Given the description of an element on the screen output the (x, y) to click on. 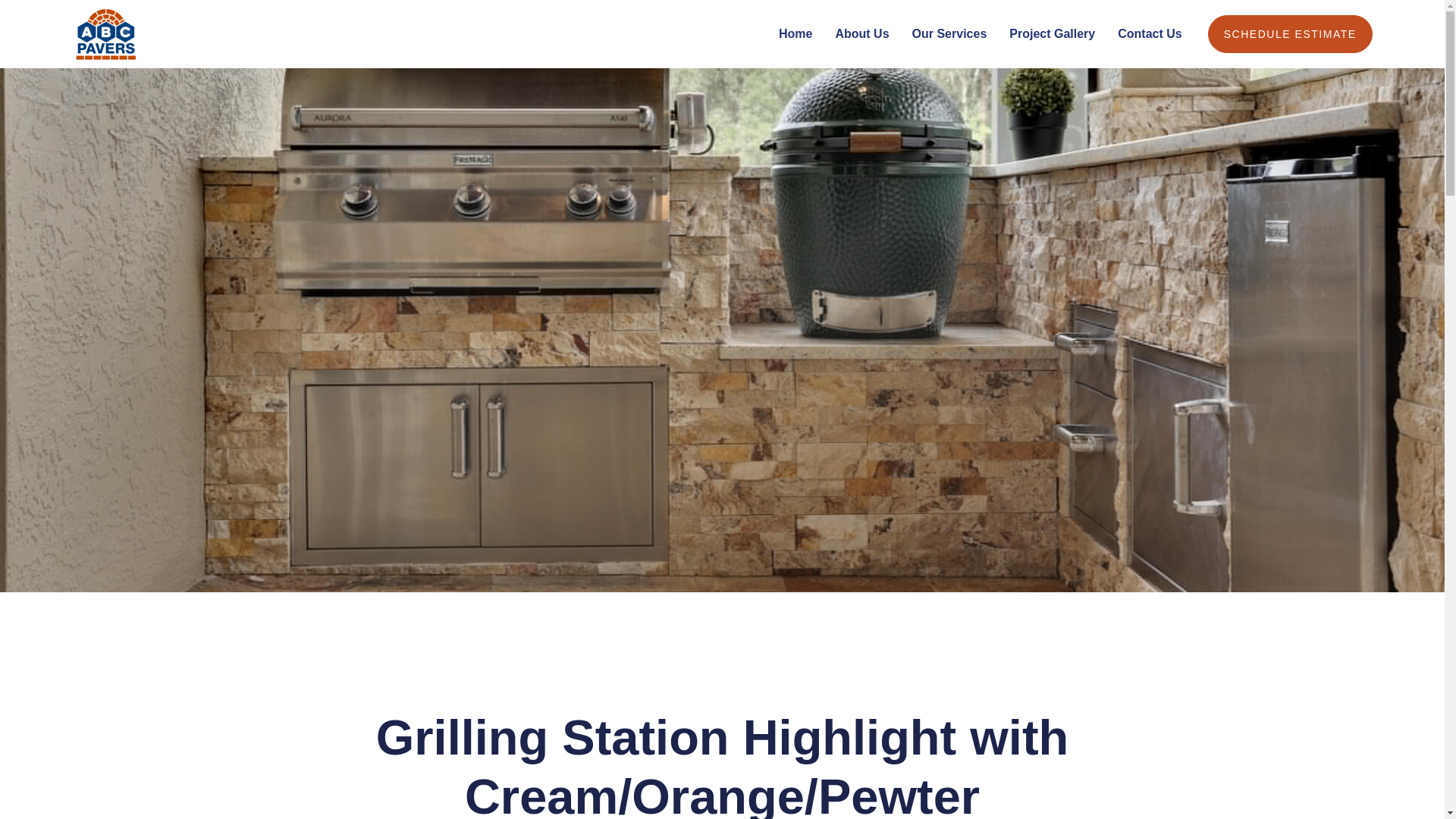
Contact Us (1149, 33)
Home (795, 33)
SCHEDULE ESTIMATE (1290, 34)
Our Services (949, 33)
Project Gallery (1051, 33)
About Us (861, 33)
